Given the description of an element on the screen output the (x, y) to click on. 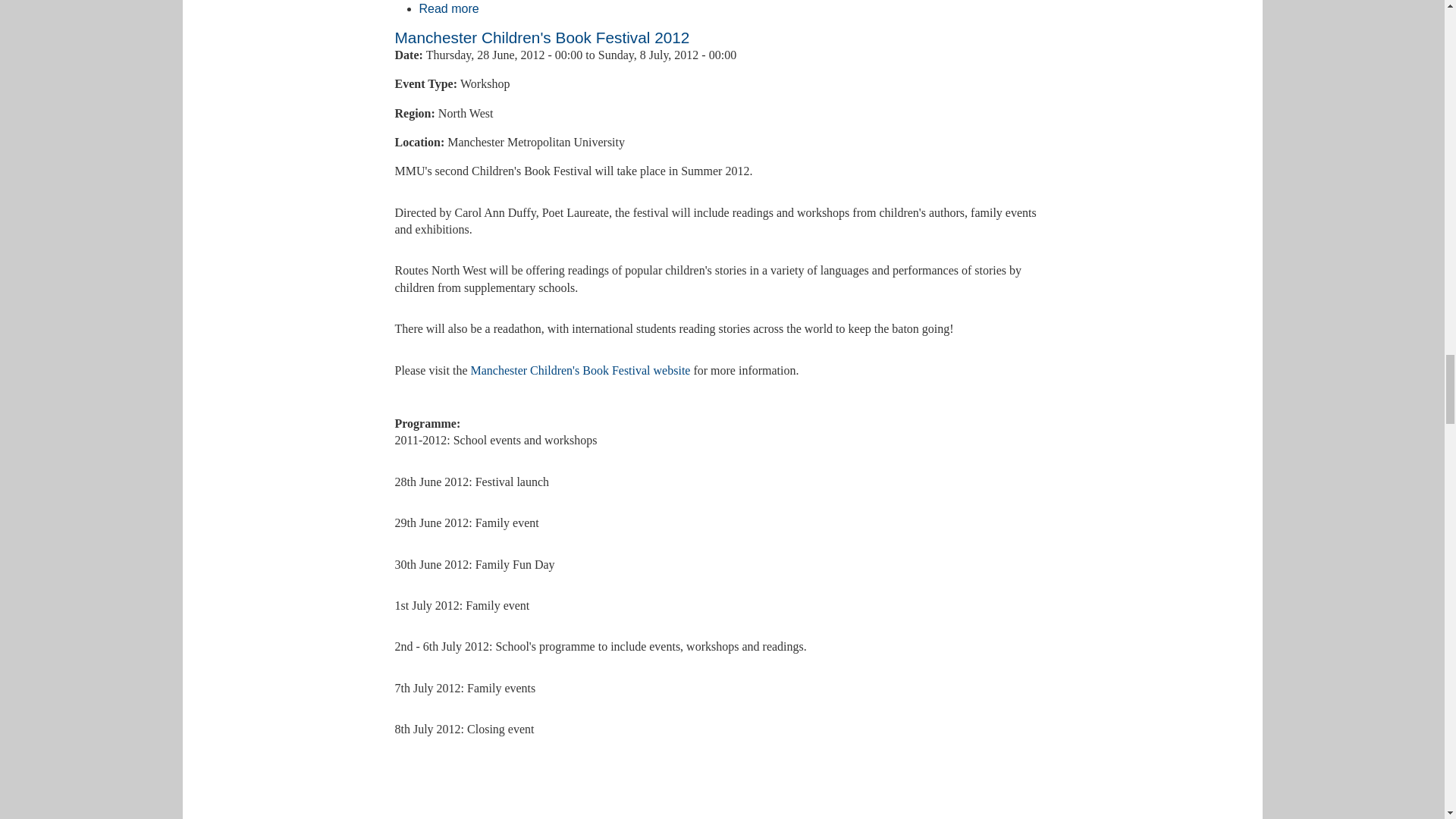
Arabic GCSE Study Session (449, 8)
Manchester Children's Book Festival 2012 (449, 8)
Manchester Children's Book Festival website (449, 817)
Manchester Children's Book Festival 2012 (449, 817)
